Given the description of an element on the screen output the (x, y) to click on. 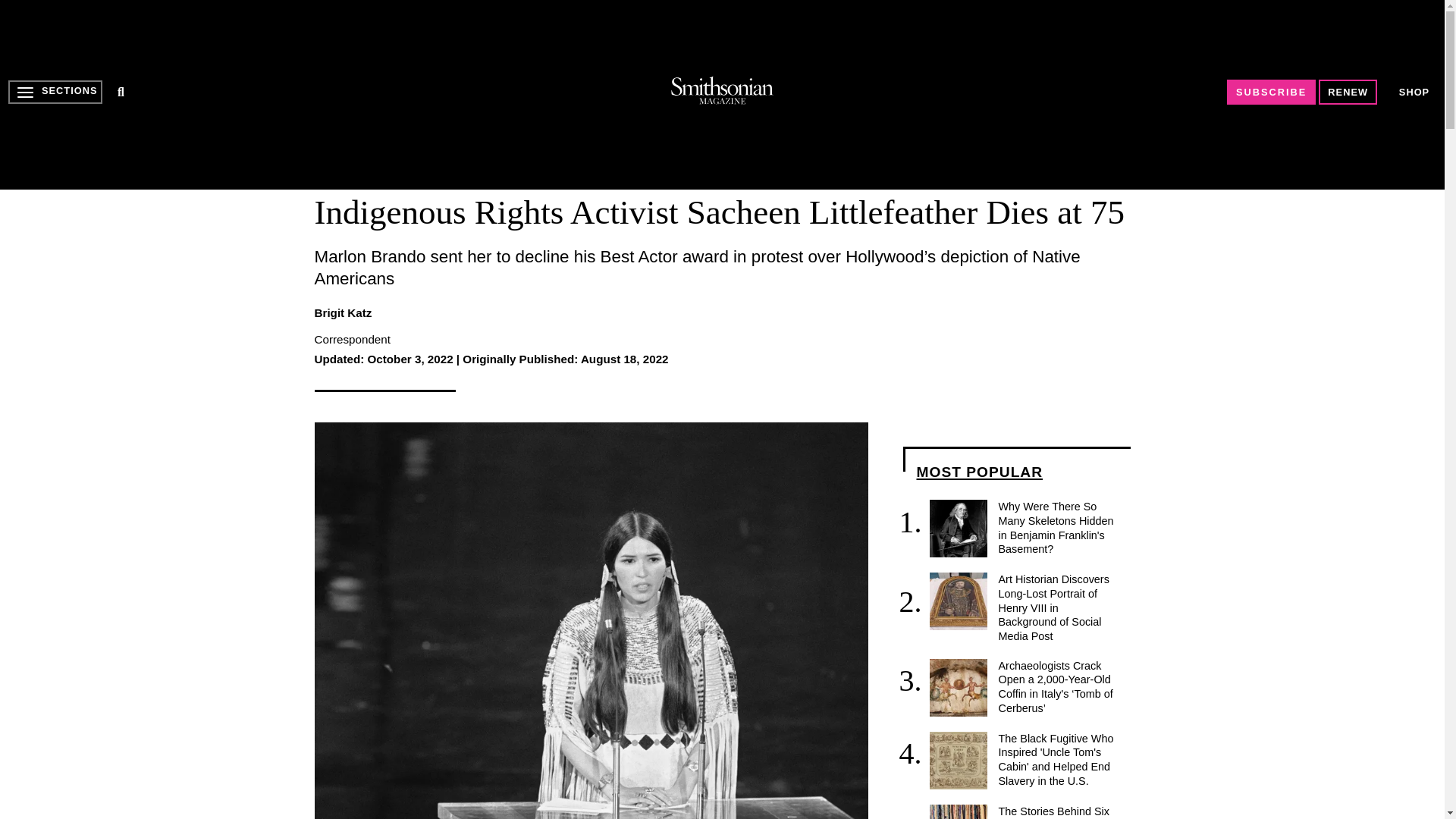
SHOP (1414, 91)
SUBSCRIBE (1271, 91)
RENEW (1347, 91)
3rd party ad content (721, 94)
SHOP (1413, 91)
SECTIONS (55, 91)
RENEW (1348, 91)
SUBSCRIBE (1271, 91)
